Given the description of an element on the screen output the (x, y) to click on. 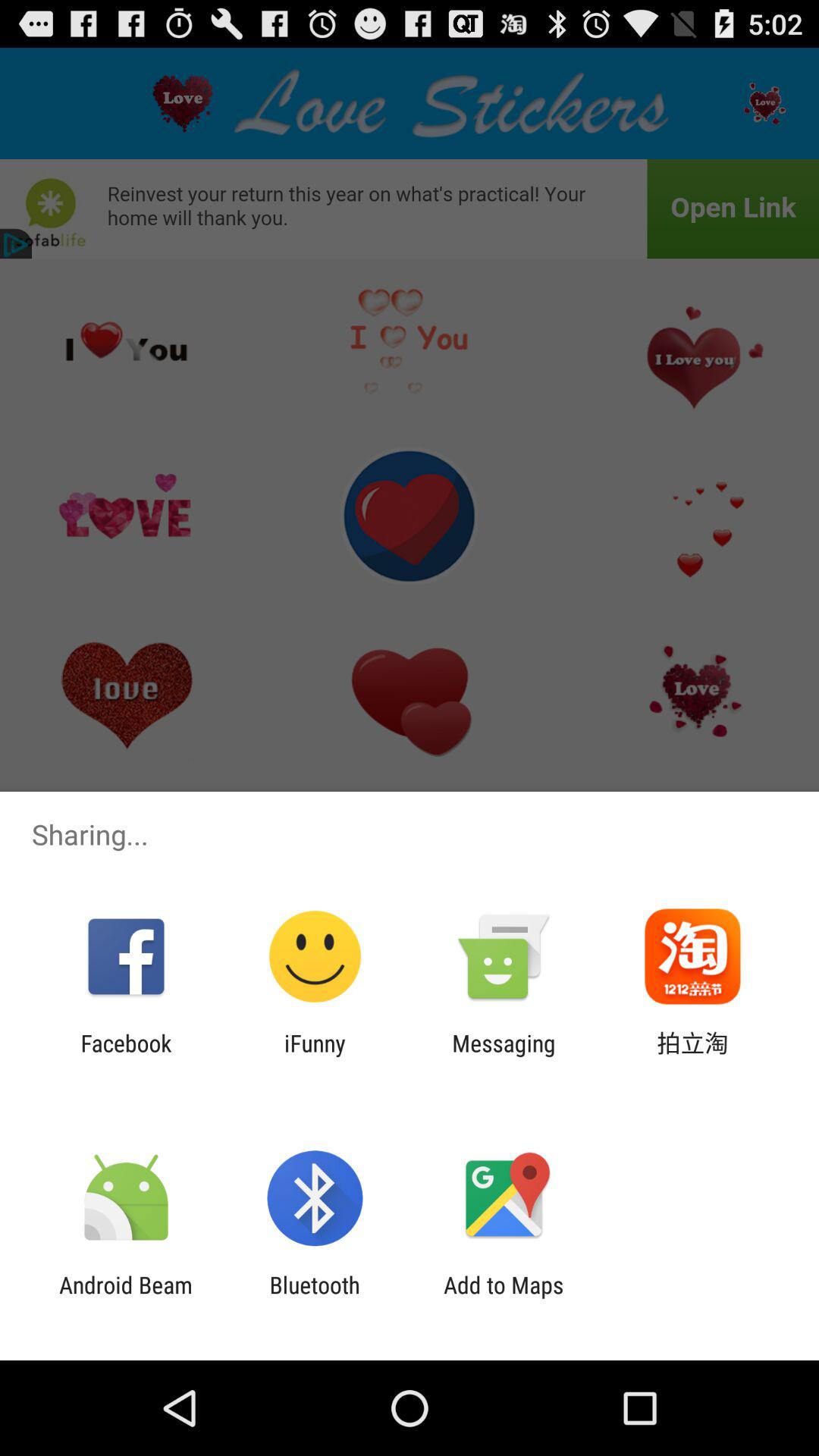
click item next to ifunny app (503, 1056)
